Given the description of an element on the screen output the (x, y) to click on. 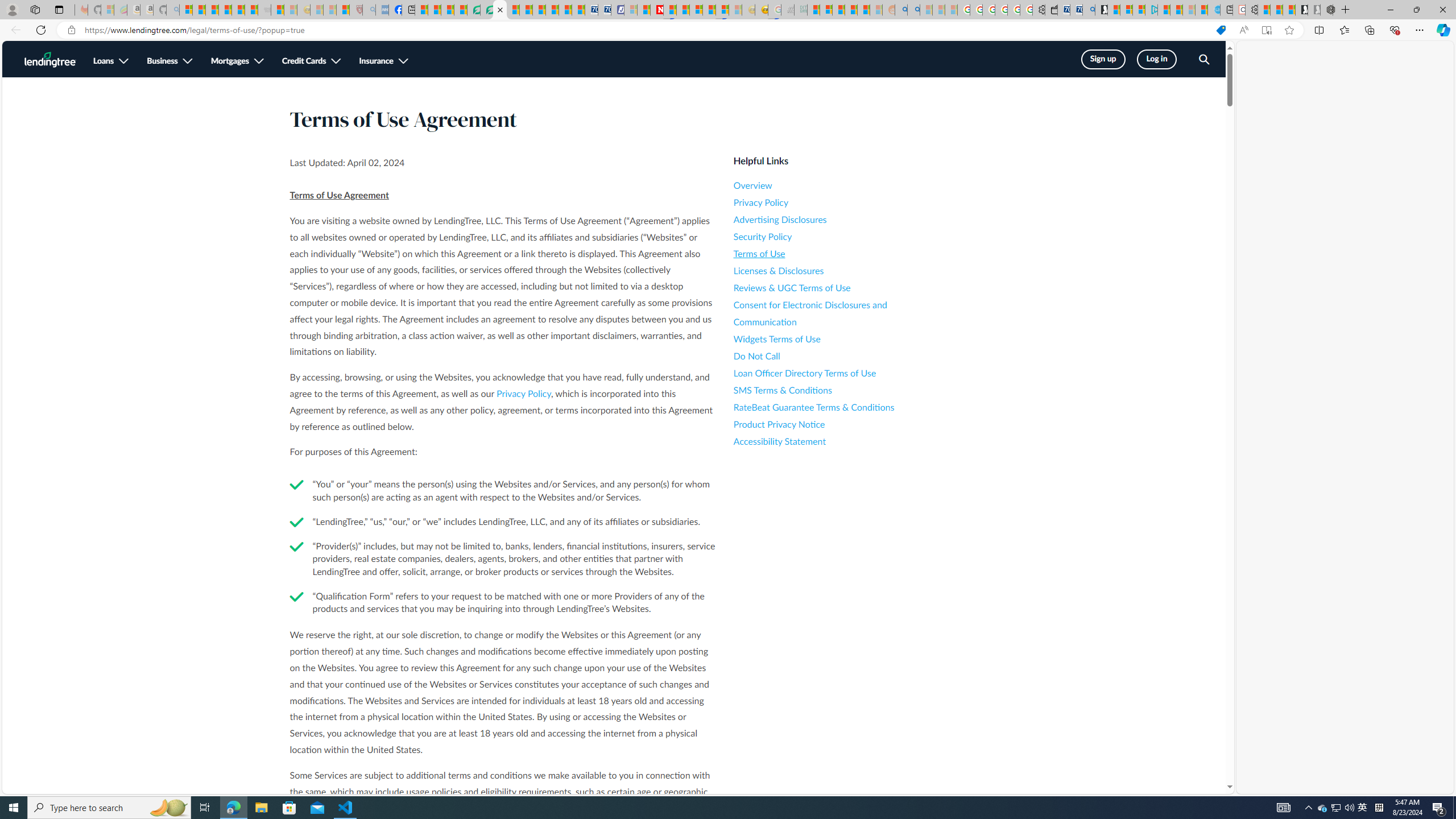
Terms of Use (836, 253)
Bing Real Estate - Home sales and rental listings (1088, 9)
The Weather Channel - MSN (212, 9)
Mortgages, see more (237, 61)
LendingTree - Compare Lenders (473, 9)
